Given the description of an element on the screen output the (x, y) to click on. 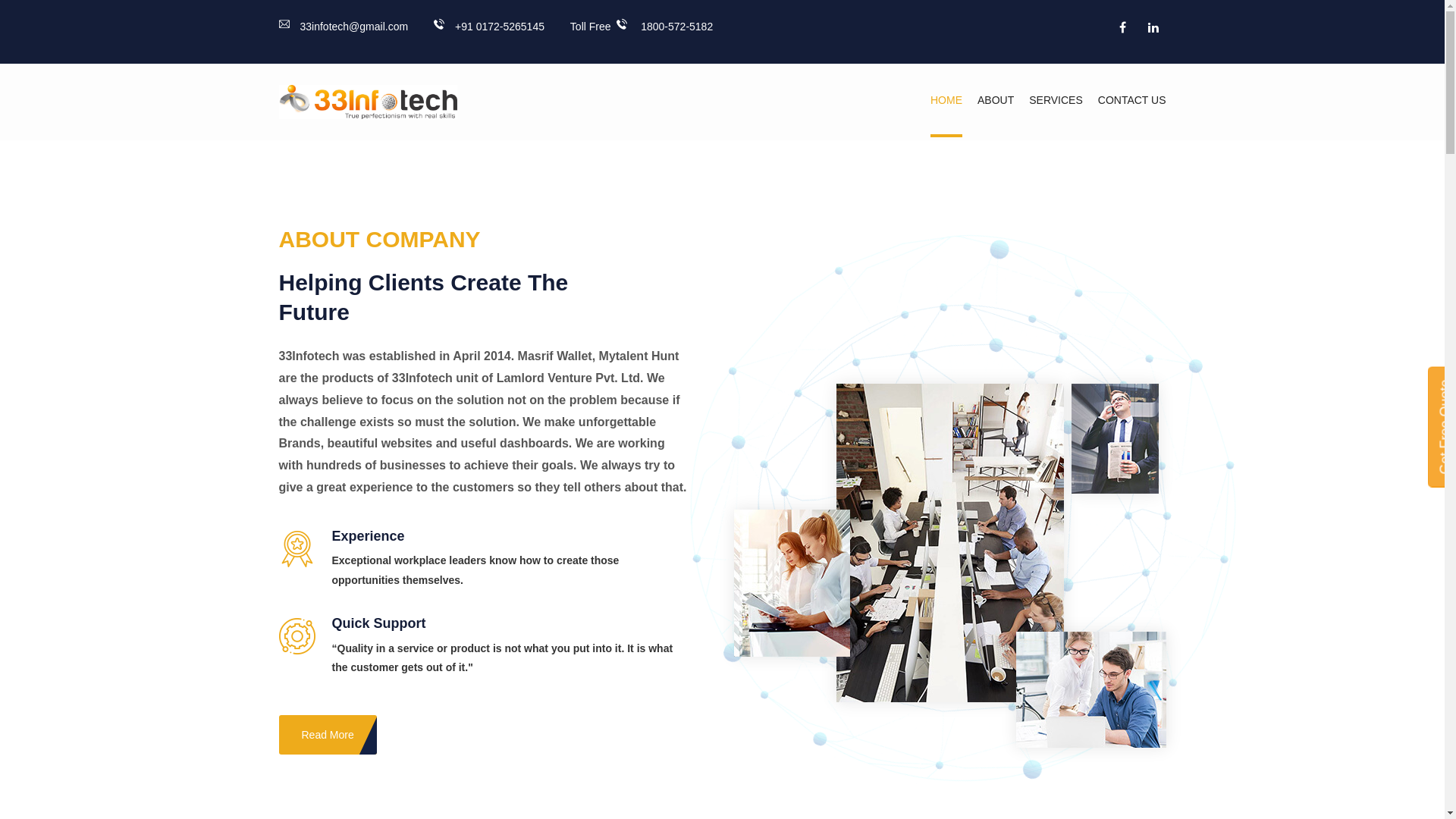
CONTACT US Element type: text (1132, 99)
SERVICES Element type: text (1055, 99)
33infotech logo Element type: hover (368, 101)
33infotech@gmail.com Element type: text (343, 26)
+91 0172-5265145 Element type: text (488, 26)
HOME Element type: text (946, 99)
1800-572-5182 Element type: text (664, 26)
Read More Element type: text (327, 734)
ABOUT Element type: text (995, 99)
